Given the description of an element on the screen output the (x, y) to click on. 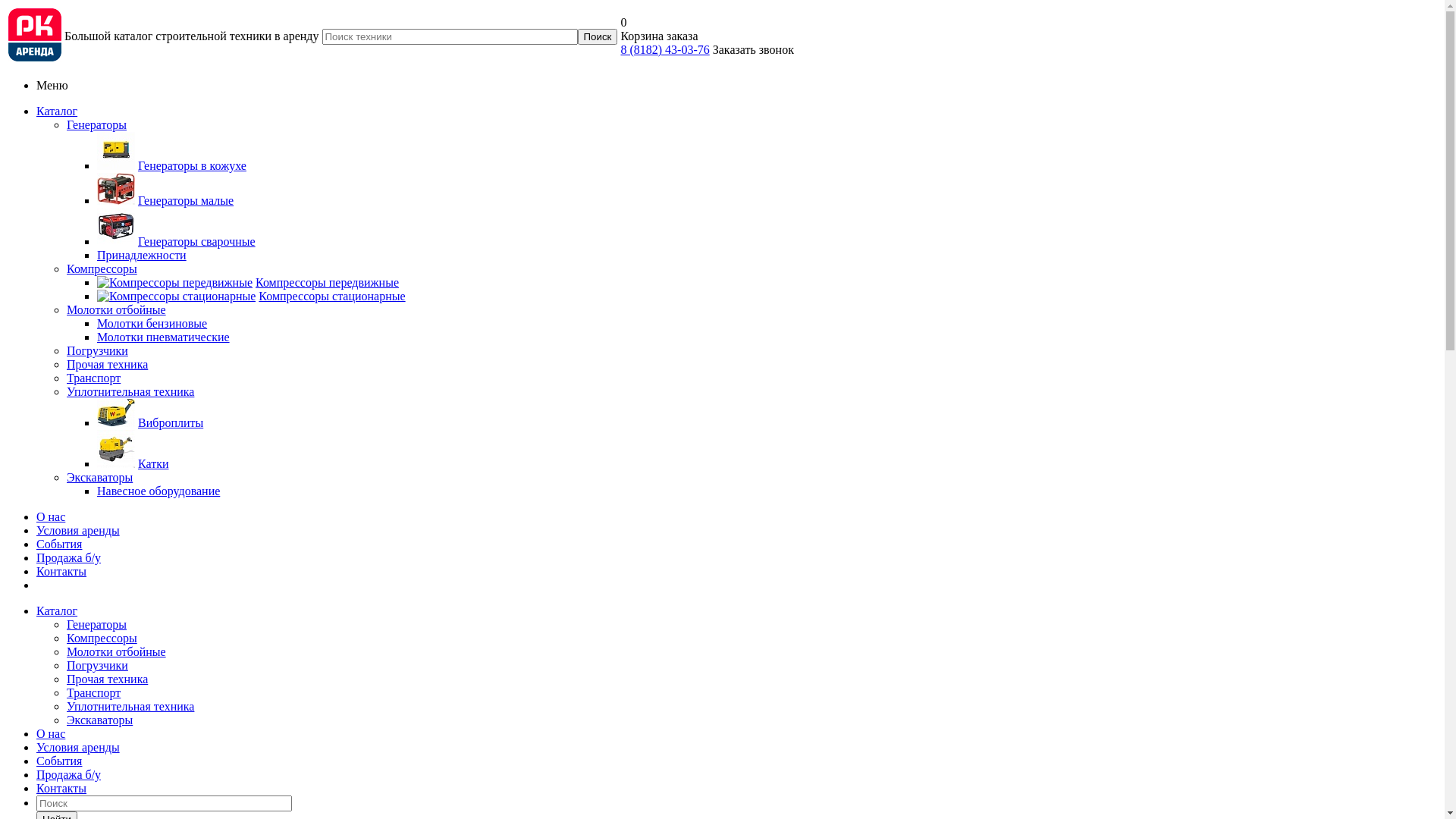
8 (8182) 43-03-76 Element type: text (664, 49)
